Given the description of an element on the screen output the (x, y) to click on. 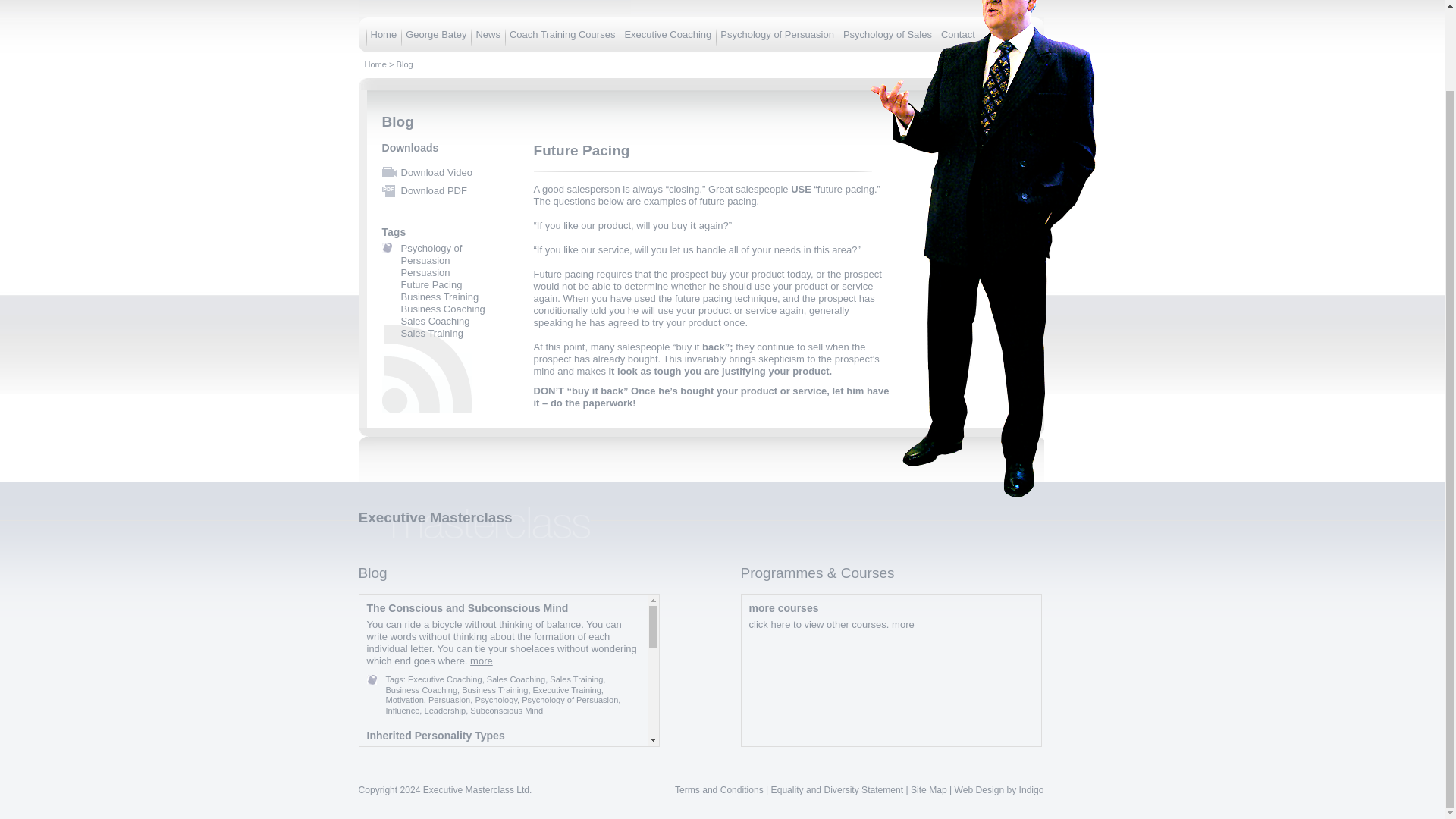
Sales Training (431, 333)
Sales Coaching (434, 320)
Psychology of Sales (887, 34)
Future Pacing (430, 284)
Coach Training Courses (561, 34)
Home (374, 63)
News (488, 34)
Executive Coaching (444, 678)
Contact (957, 34)
George Batey (435, 34)
Executive Coaching (667, 34)
Business Training (439, 296)
Sales Coaching (515, 678)
Psychology of Persuasion (430, 254)
Sales Training (576, 678)
